Given the description of an element on the screen output the (x, y) to click on. 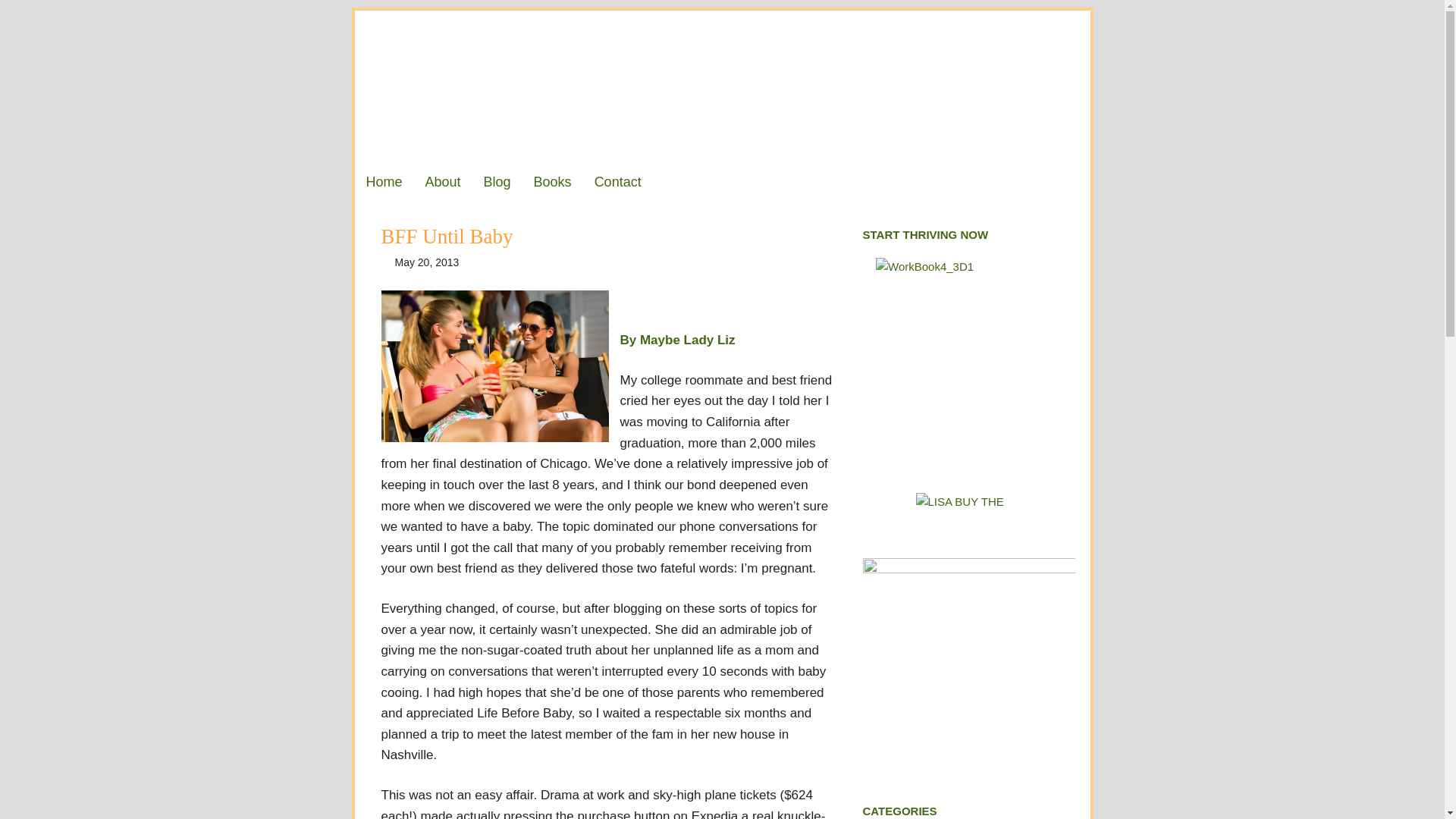
BFF Until Baby (446, 236)
Life Without Baby (722, 86)
Books (552, 181)
Blog (496, 181)
About (442, 181)
Contact (617, 181)
Home (384, 181)
